Given the description of an element on the screen output the (x, y) to click on. 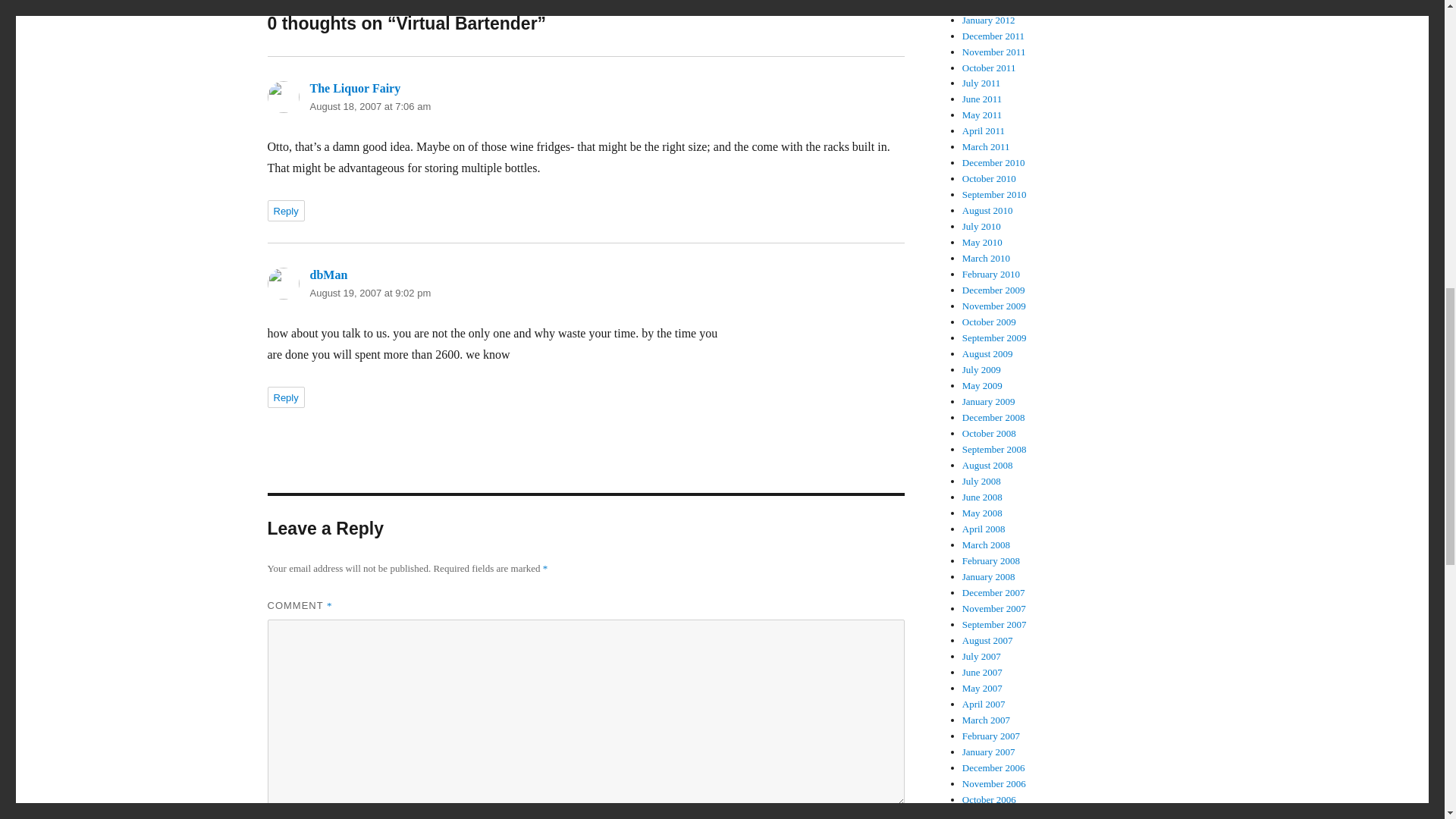
The Liquor Fairy (354, 88)
Reply (285, 396)
August 19, 2007 at 9:02 pm (369, 292)
August 18, 2007 at 7:06 am (369, 106)
Reply (285, 210)
dbMan (327, 274)
